Given the description of an element on the screen output the (x, y) to click on. 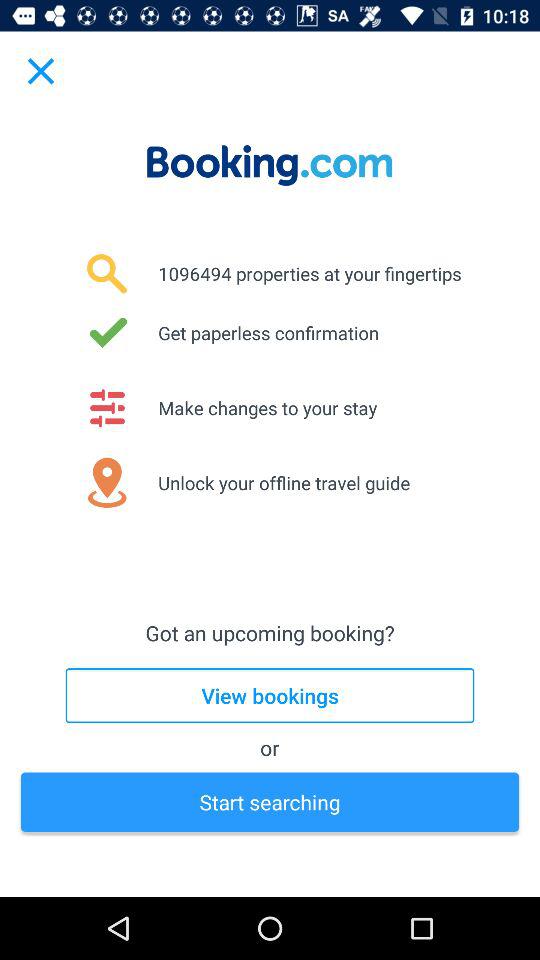
tap icon below got an upcoming item (269, 695)
